Given the description of an element on the screen output the (x, y) to click on. 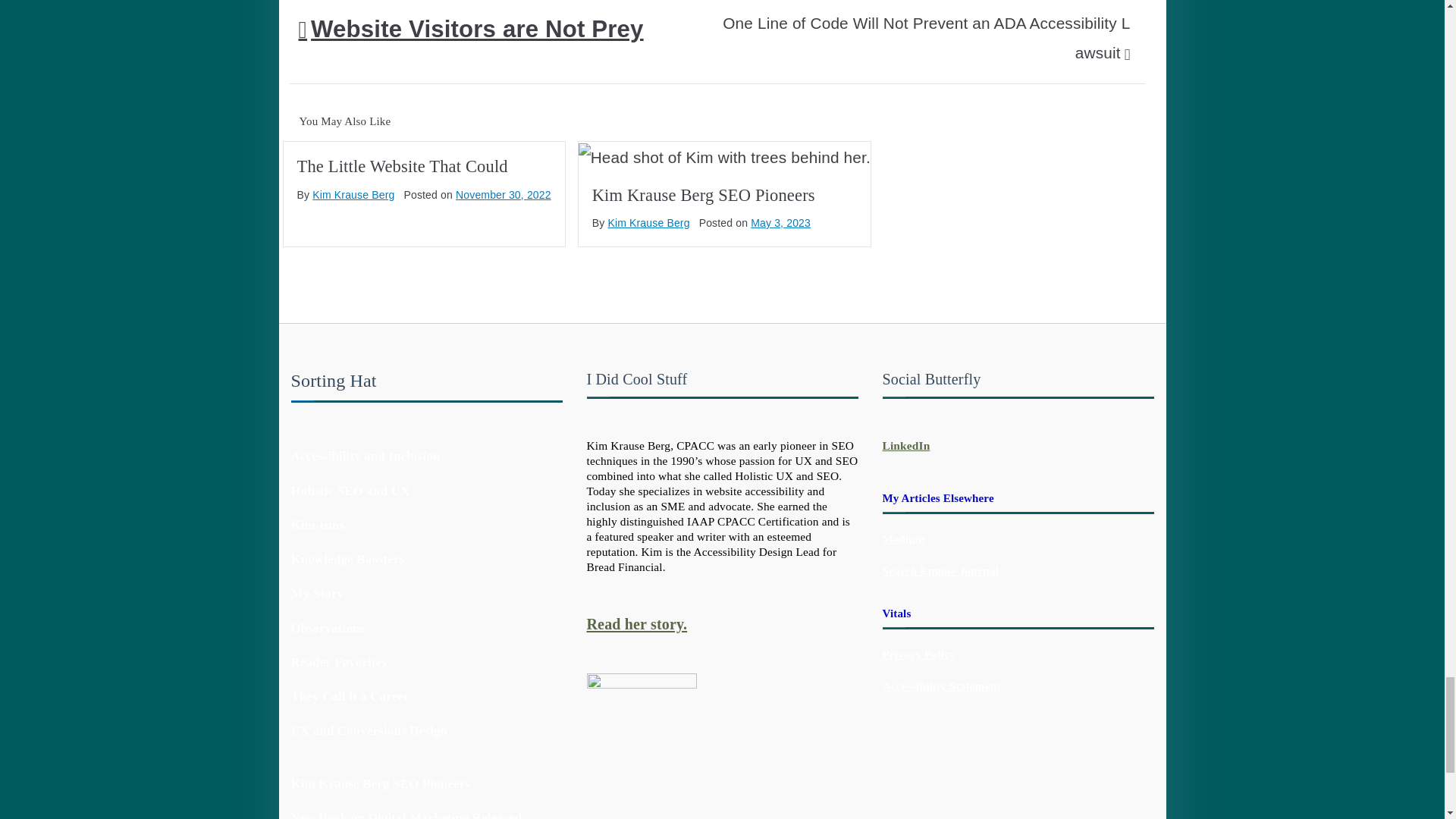
The Little Website That Could (402, 166)
Kim-isms (318, 524)
Kim Krause Berg (353, 194)
November 30, 2022 (503, 194)
Holistic SEO and UX (350, 490)
My Story (317, 593)
Accessibility and Inclusion (366, 456)
Website Visitors are Not Prey (470, 28)
Kim Krause Berg (647, 223)
